Given the description of an element on the screen output the (x, y) to click on. 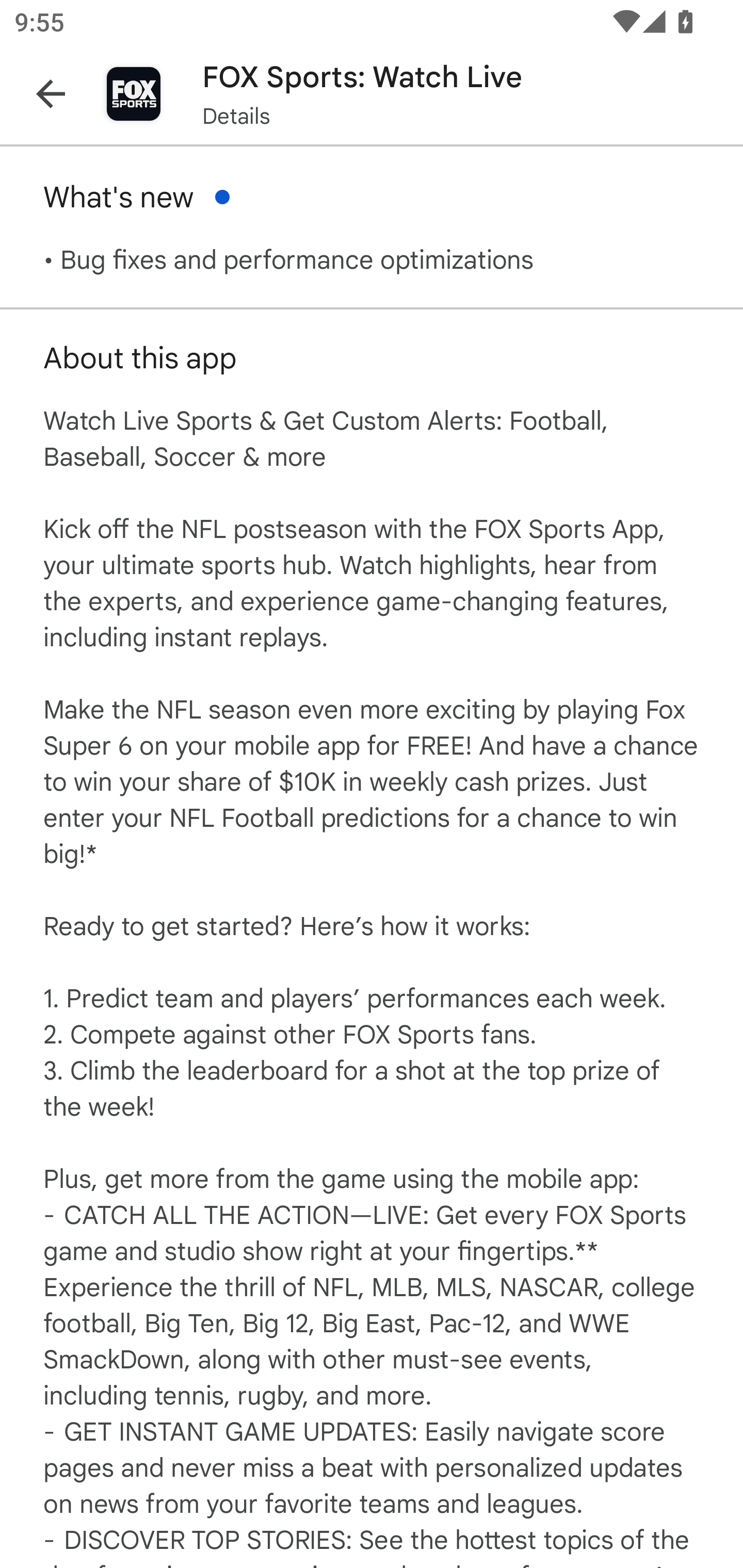
Navigate up (50, 93)
